Given the description of an element on the screen output the (x, y) to click on. 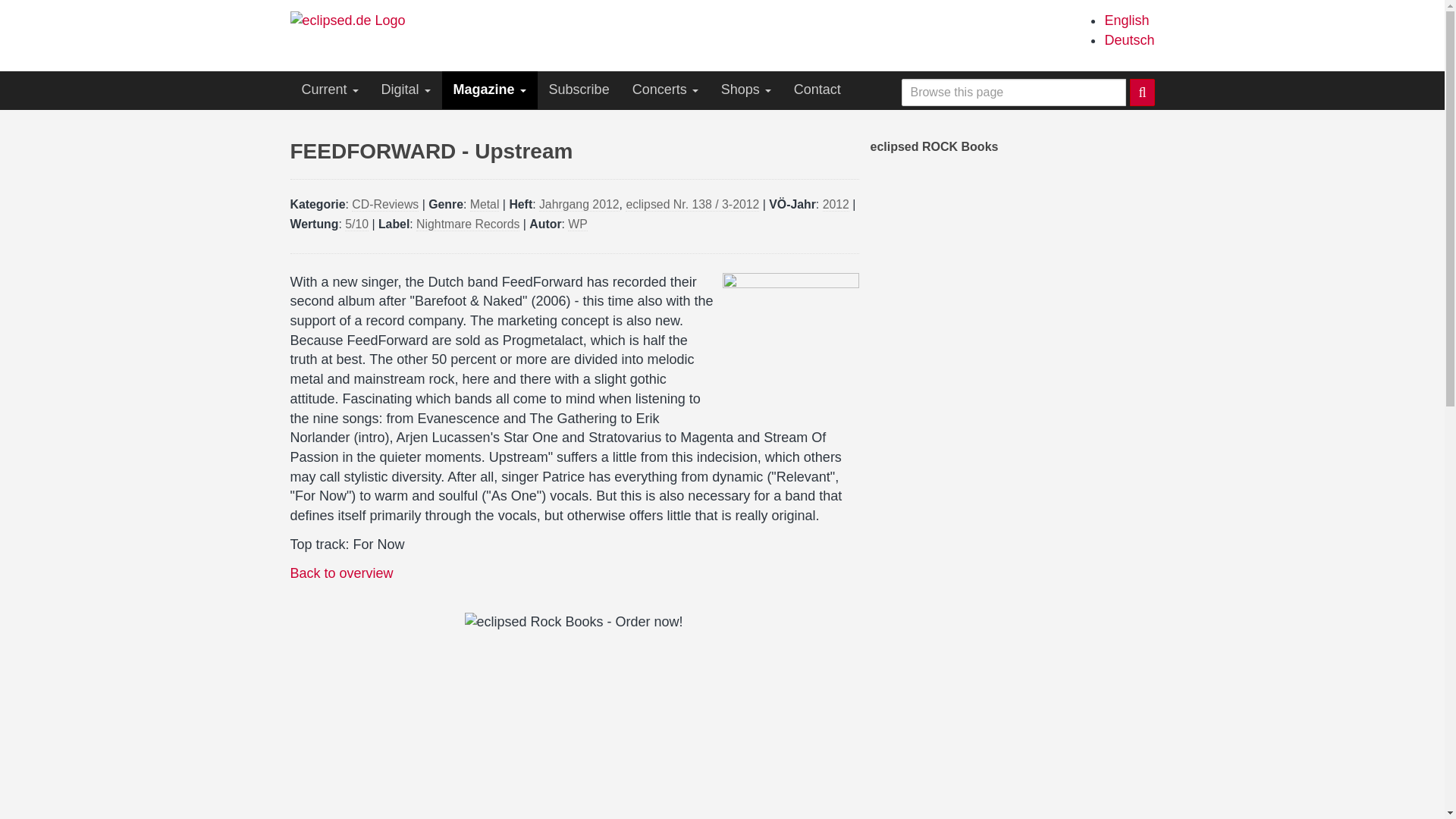
Contact (817, 89)
FEEDFORWARD - Upstream (1128, 39)
Nightmare Records (467, 223)
Magazine (489, 89)
Back to overview (341, 572)
Digital (405, 89)
eclipsed Rock Books - Order now! (721, 715)
Home (352, 20)
Current (329, 89)
FEEDFORWARD - Upstream (1125, 20)
English (1125, 20)
Subscribe (579, 89)
Jahrgang 2012 (579, 204)
Deutsch (1128, 39)
